Given the description of an element on the screen output the (x, y) to click on. 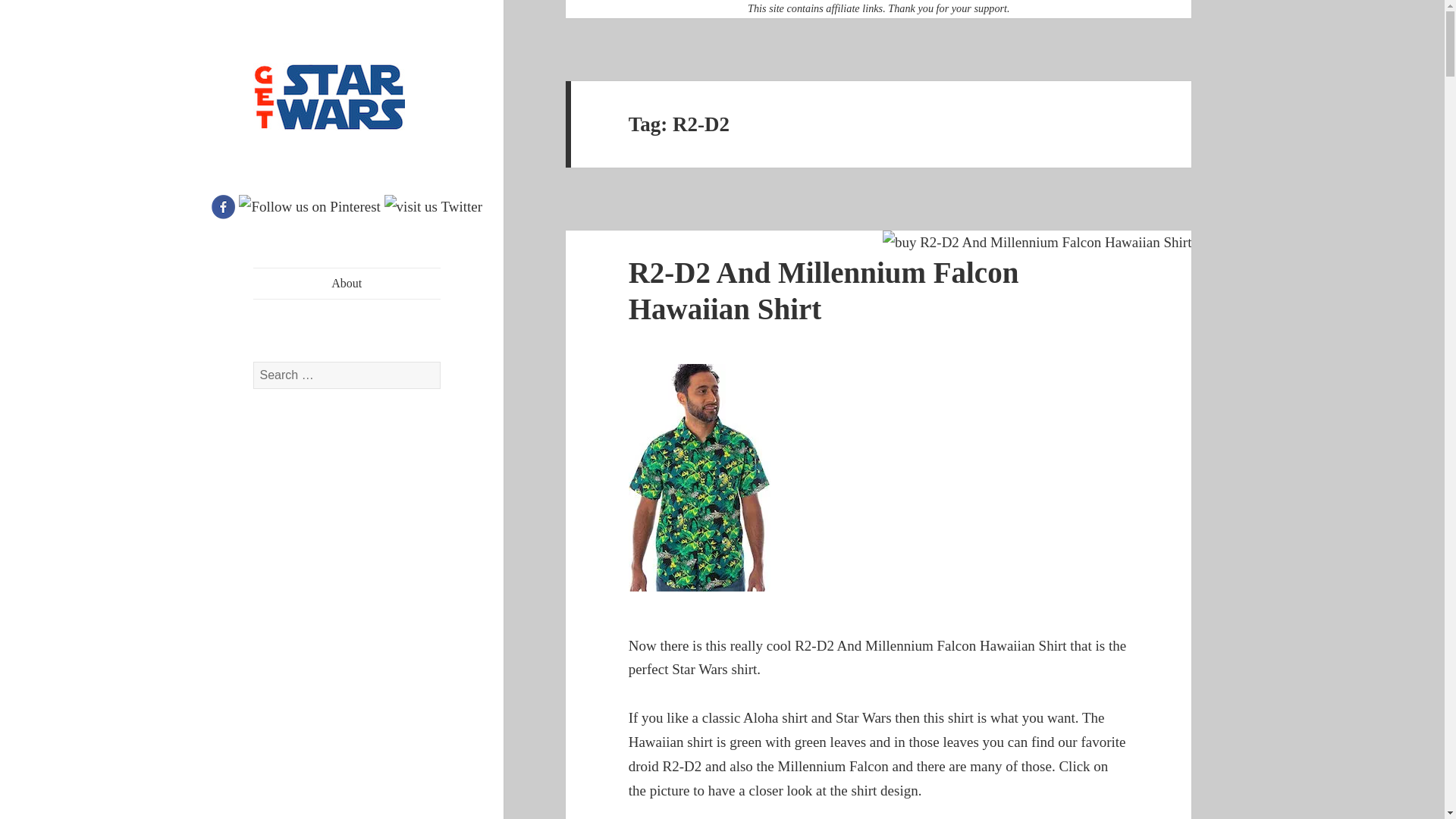
buy R2-D2 And Millennium Falcon Hawaiian Shirt (1037, 242)
About (347, 283)
R2-D2 And Millennium Falcon Hawaiian Shirt (823, 290)
